Given the description of an element on the screen output the (x, y) to click on. 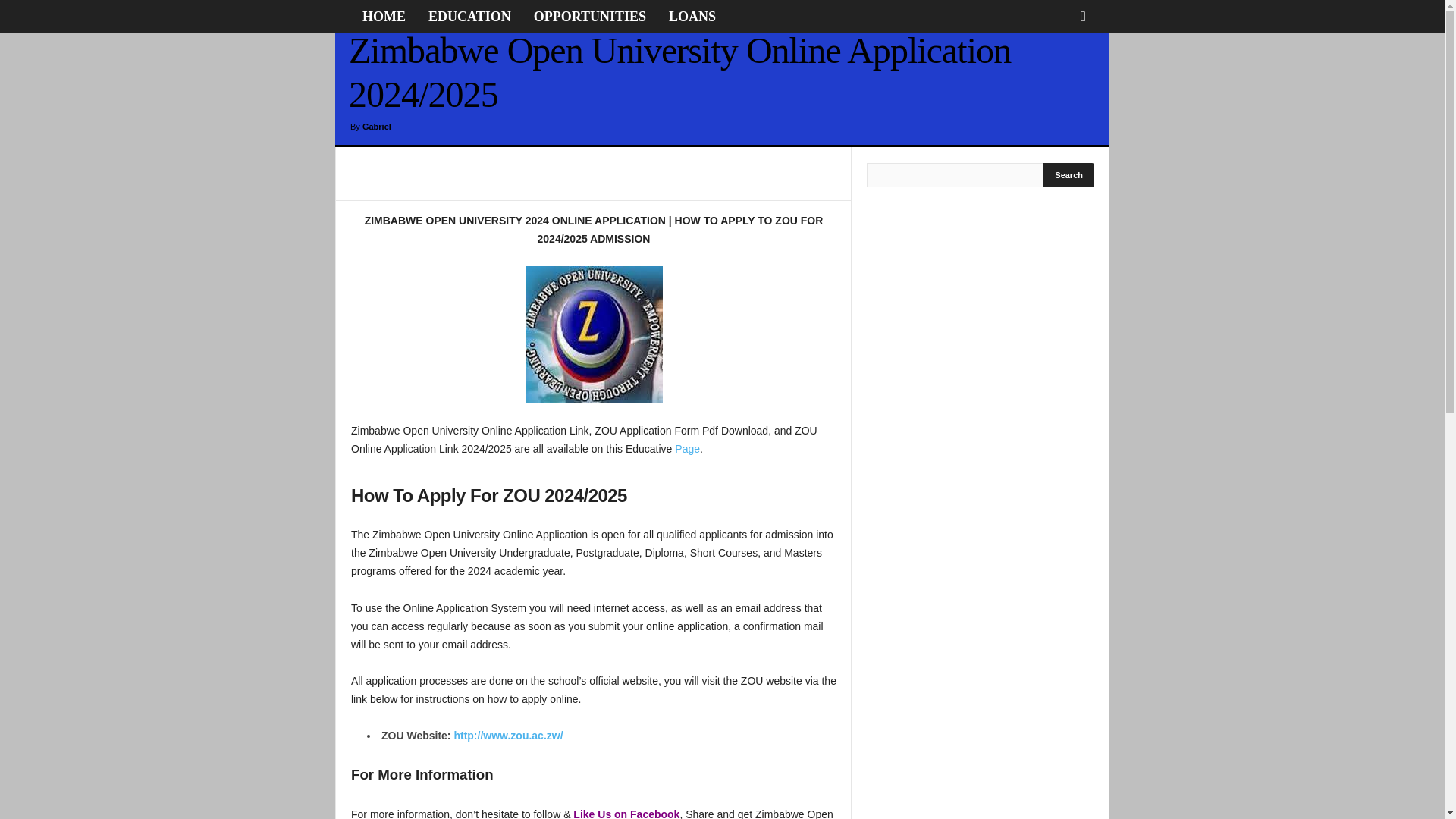
OPPORTUNITIES (590, 16)
HOME (383, 16)
Search (1068, 174)
Gabriel (376, 126)
Like Us on Facebook (626, 813)
Page (687, 449)
EDUCATION (469, 16)
LOANS (692, 16)
